Given the description of an element on the screen output the (x, y) to click on. 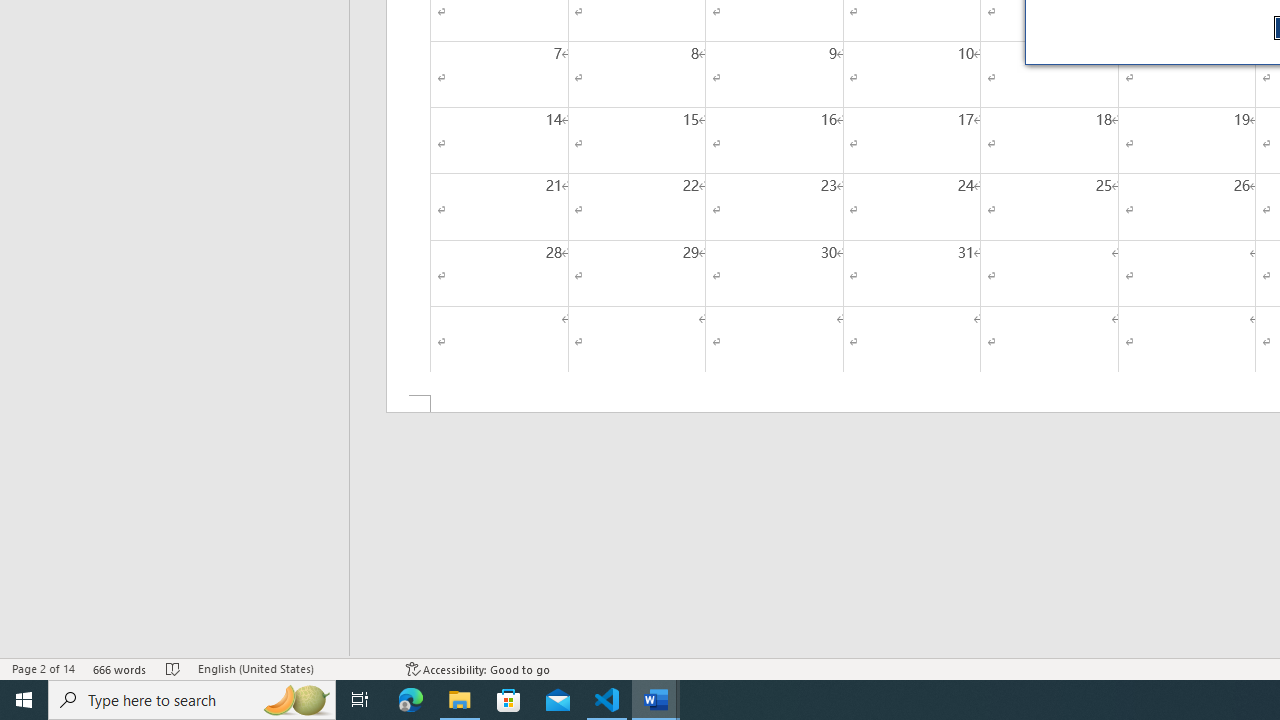
Page Number Page 2 of 14 (43, 668)
Word - 2 running windows (656, 699)
Word Count 666 words (119, 668)
Microsoft Edge (411, 699)
File Explorer - 1 running window (460, 699)
